Given the description of an element on the screen output the (x, y) to click on. 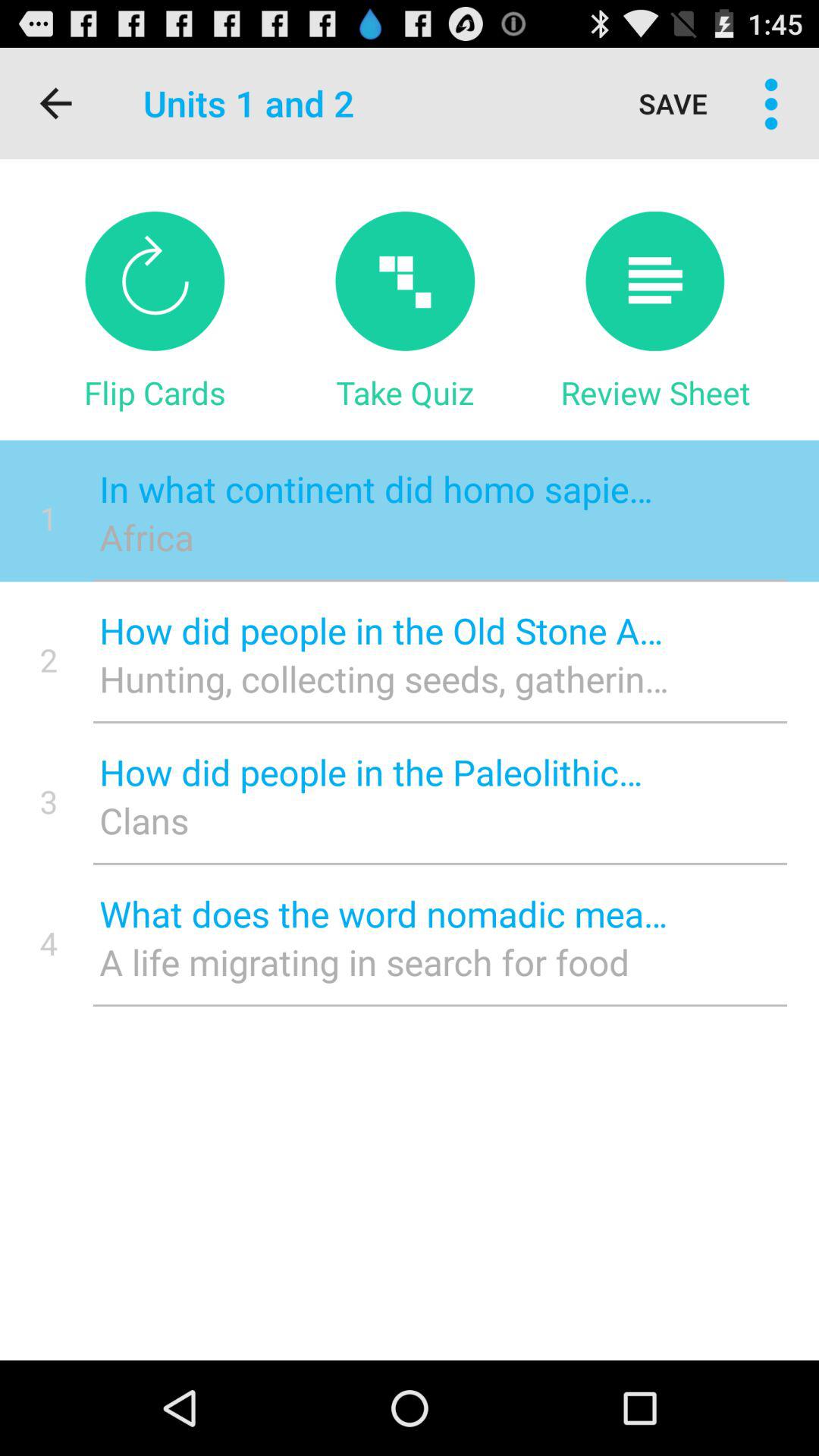
review sheet (655, 280)
